Given the description of an element on the screen output the (x, y) to click on. 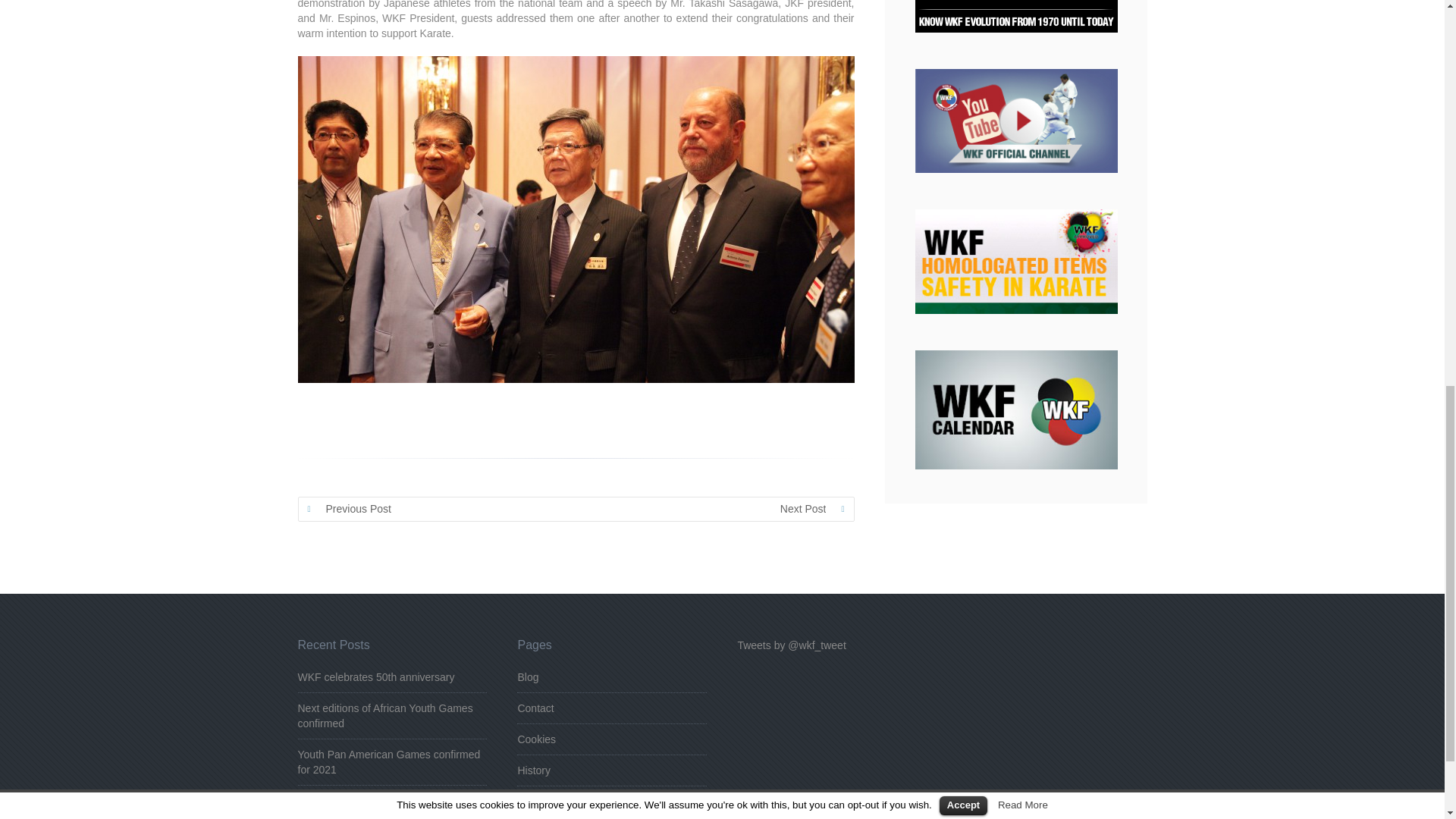
Previous Post (368, 508)
Next editions of African Youth Games confirmed (384, 715)
Karate Olympic Standings (358, 800)
Contact (534, 707)
Youth Pan American Games confirmed for 2021 (388, 761)
History (533, 770)
Blog (527, 676)
WKF celebrates 50th anniversary (375, 676)
Home (530, 801)
Next Post (783, 508)
Cookies (536, 739)
